Given the description of an element on the screen output the (x, y) to click on. 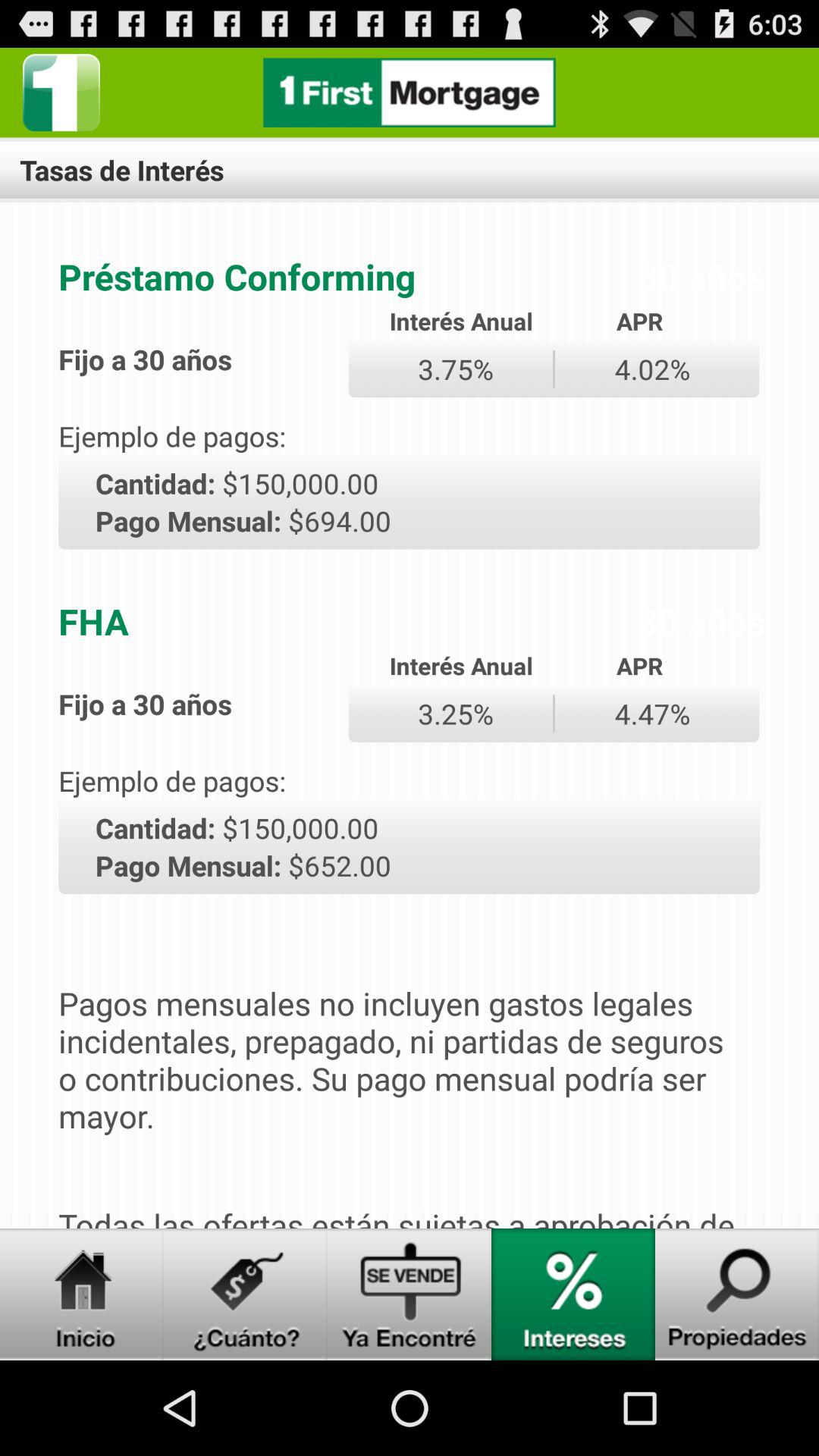
home page link (409, 92)
